Given the description of an element on the screen output the (x, y) to click on. 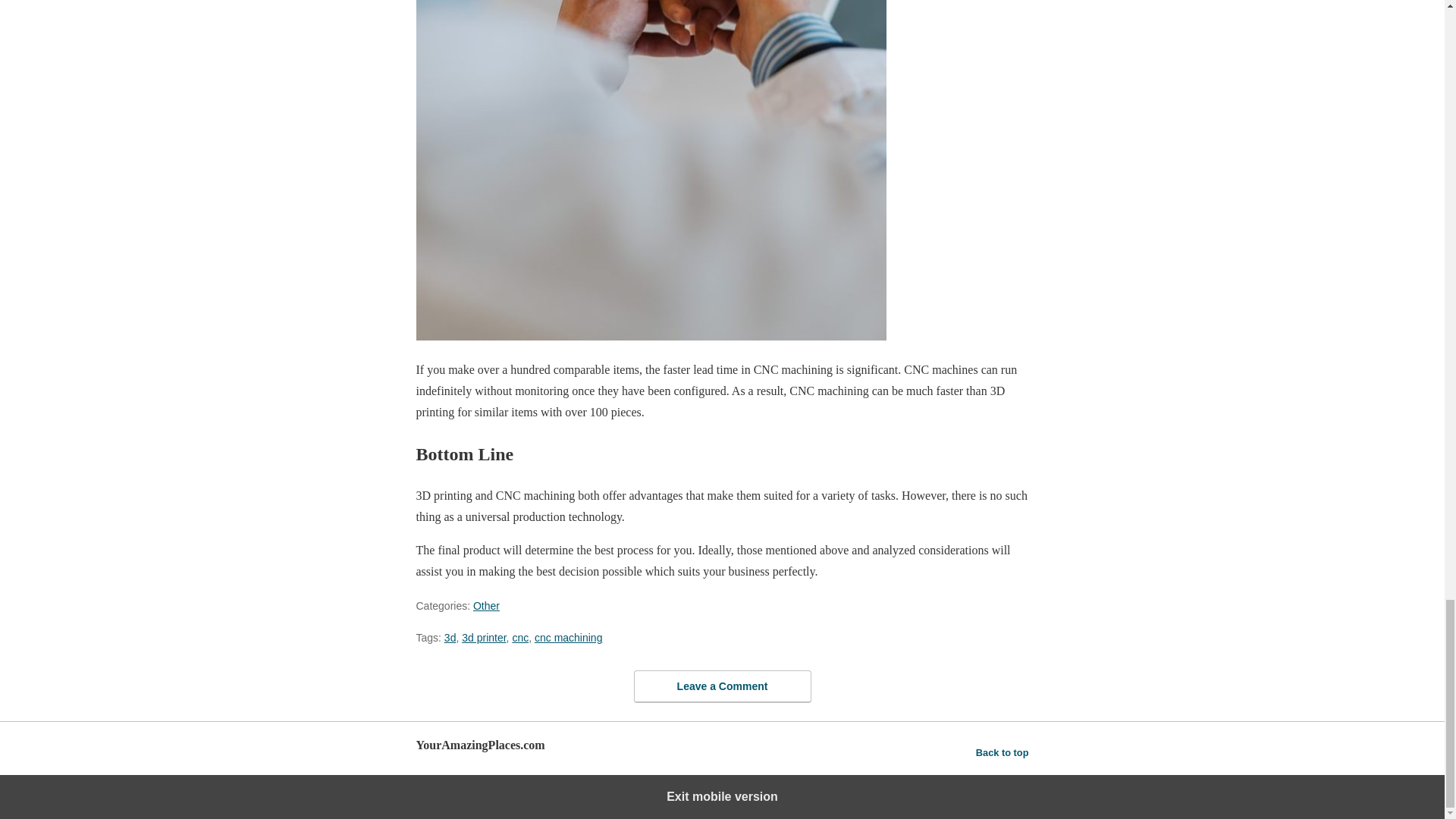
Other (486, 605)
3d (450, 637)
Leave a Comment (721, 686)
cnc machining (568, 637)
Back to top (1002, 752)
cnc (520, 637)
3d printer (483, 637)
